Given the description of an element on the screen output the (x, y) to click on. 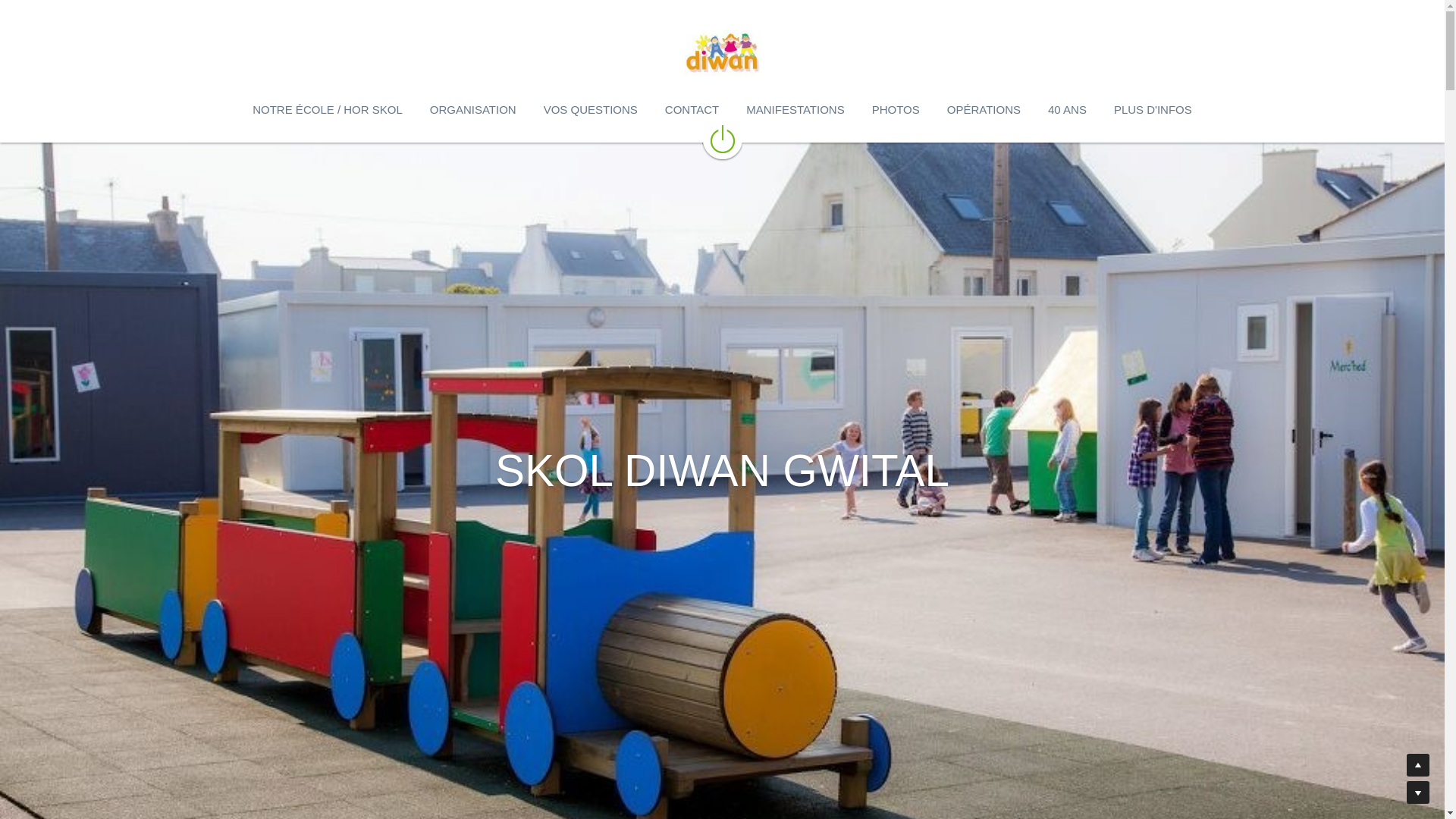
VOS QUESTIONS Element type: text (590, 109)
CONTACT Element type: text (691, 109)
MANIFESTATIONS Element type: text (795, 109)
ORGANISATION Element type: text (472, 109)
    Element type: hover (721, 53)
PLUS D'INFOS Element type: text (1152, 109)
PHOTOS Element type: text (895, 109)
40 ANS Element type: text (1067, 109)
